Given the description of an element on the screen output the (x, y) to click on. 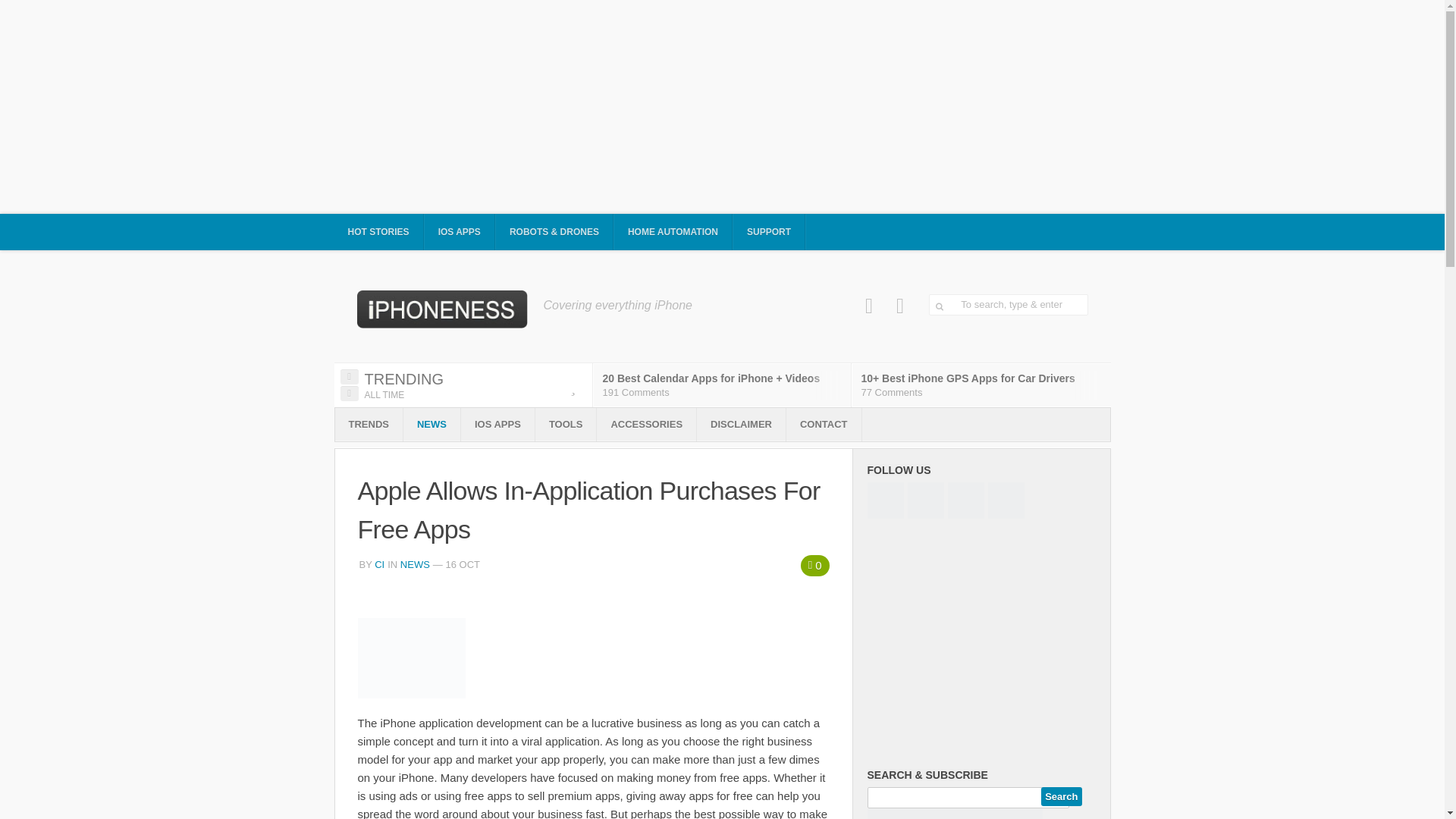
Facebook (869, 305)
IOS APPS (460, 231)
SUPPORT (769, 231)
Search (1061, 796)
HOME AUTOMATION (673, 231)
HOT STORIES (377, 231)
TRENDS (368, 424)
Pinterest (900, 305)
NEWS (431, 424)
